Given the description of an element on the screen output the (x, y) to click on. 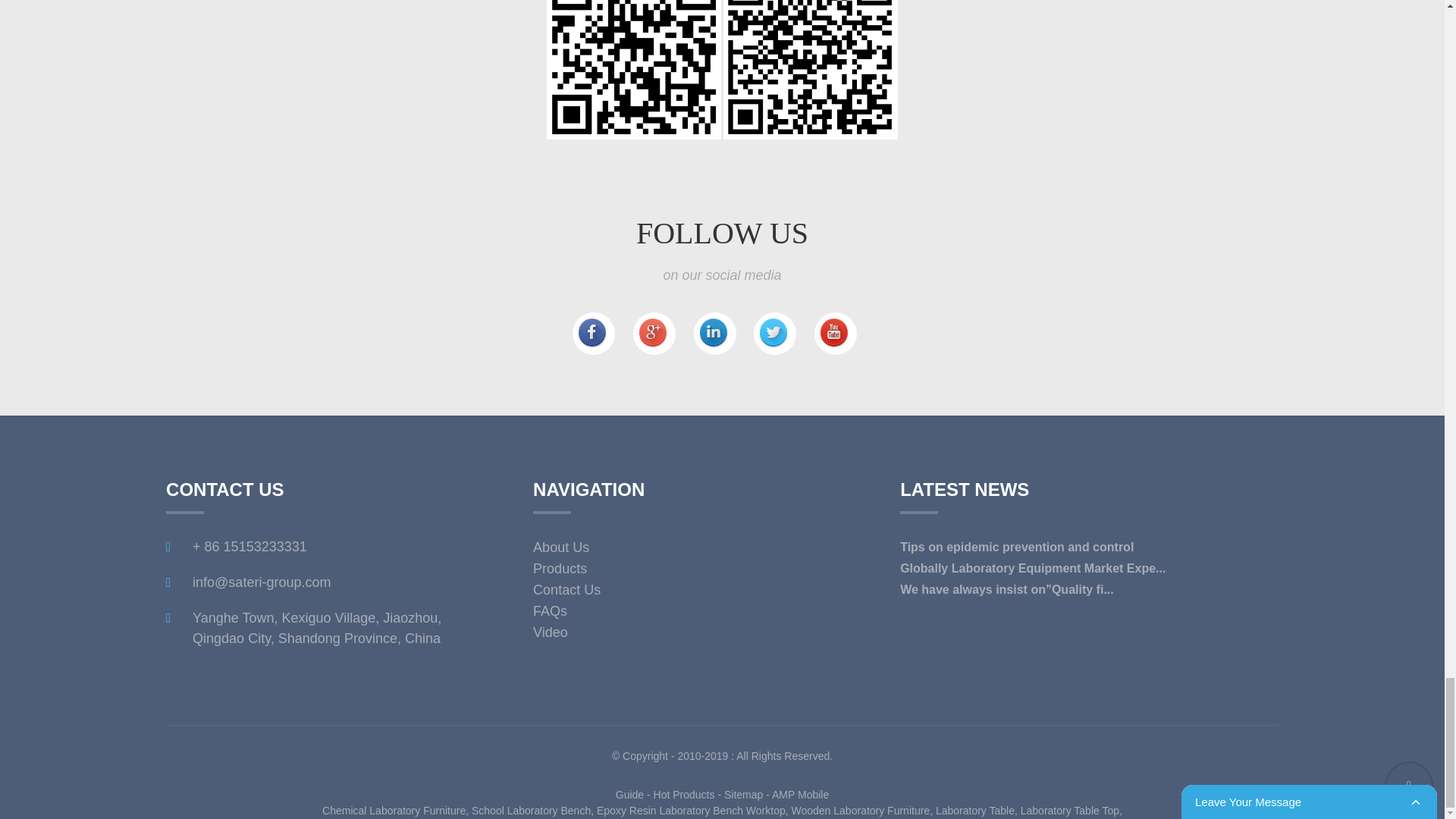
School Laboratory Bench (531, 810)
Epoxy Resin Laboratory Bench Worktop (691, 810)
Chemical Laboratory Furniture (393, 810)
Wooden Laboratory Furniture (861, 810)
